Given the description of an element on the screen output the (x, y) to click on. 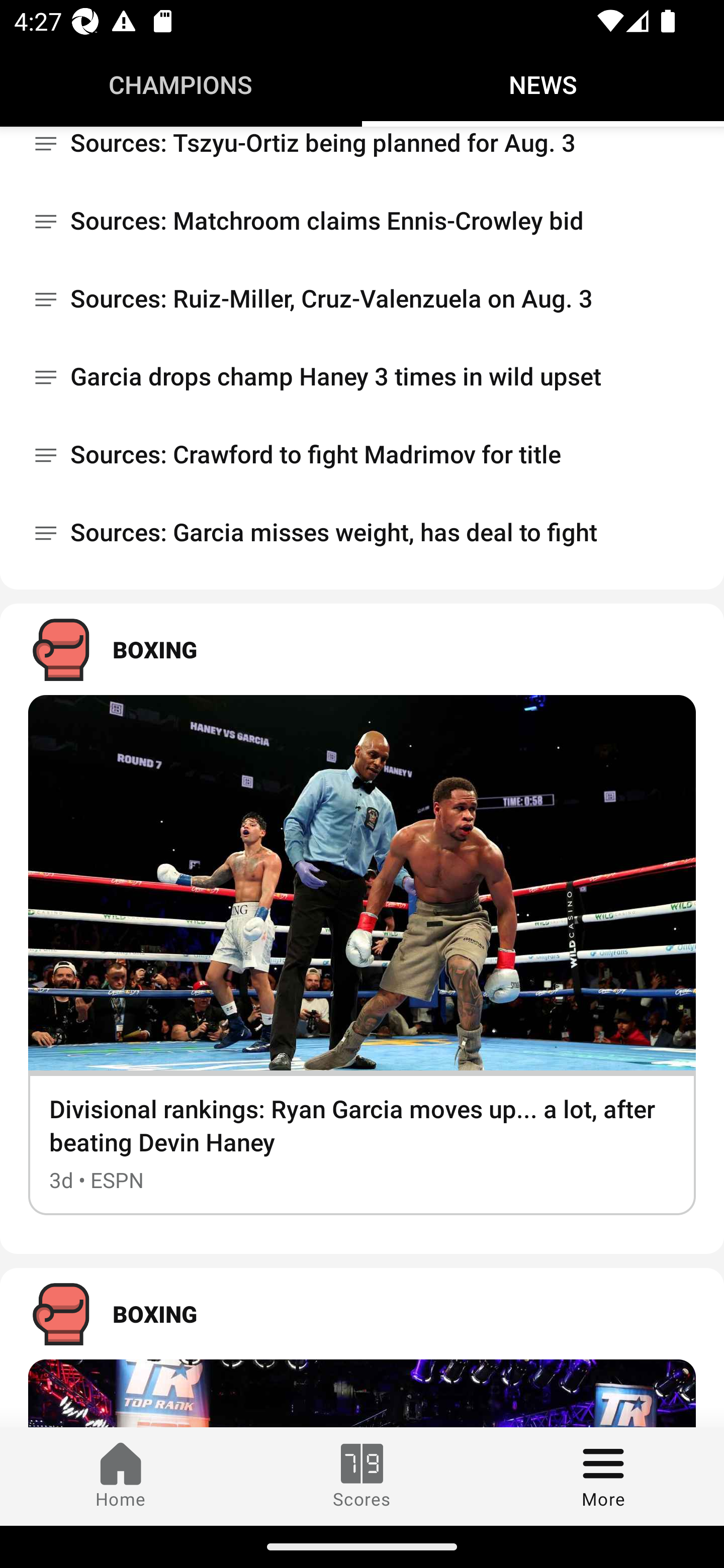
Champions CHAMPIONS (181, 84)
 Sources: Tszyu-Ortiz being planned for Aug. 3 (362, 154)
 Sources: Matchroom claims Ennis-Crowley bid (362, 220)
 Sources: Ruiz-Miller, Cruz-Valenzuela on Aug. 3 (362, 299)
 Garcia drops champ Haney 3 times in wild upset (362, 376)
 Sources: Crawford to fight Madrimov for title (362, 454)
 Sources: Garcia misses weight, has deal to fight (362, 532)
BOXING (362, 648)
BOXING (362, 1313)
Home (120, 1475)
Scores (361, 1475)
